Given the description of an element on the screen output the (x, y) to click on. 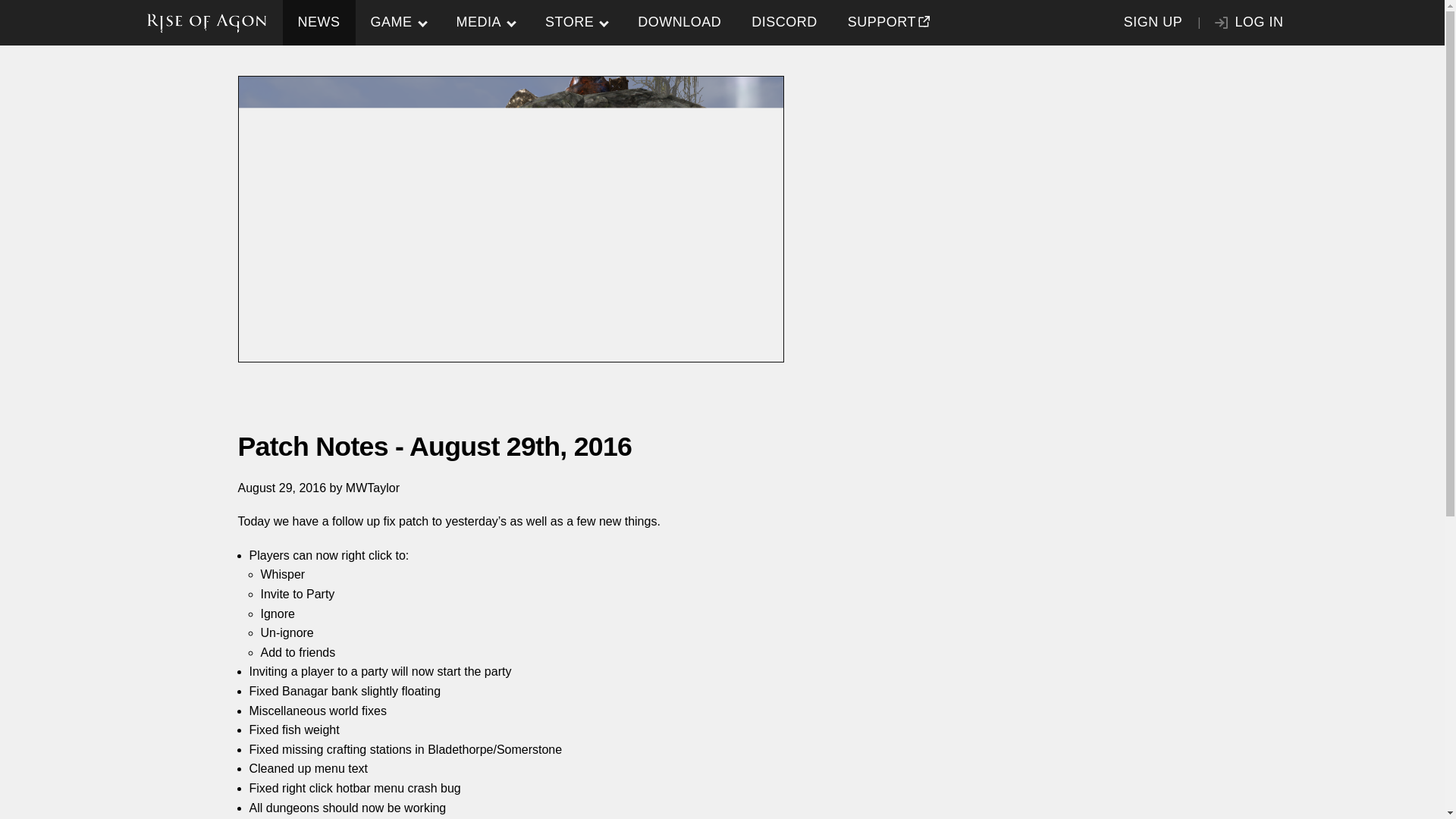
GAME (398, 22)
STORE (576, 22)
DOWNLOAD (679, 22)
NEWS (318, 22)
DISCORD (784, 22)
SUPPORT (885, 22)
MEDIA (486, 22)
LOG IN (1248, 22)
SIGN UP (1153, 22)
